Given the description of an element on the screen output the (x, y) to click on. 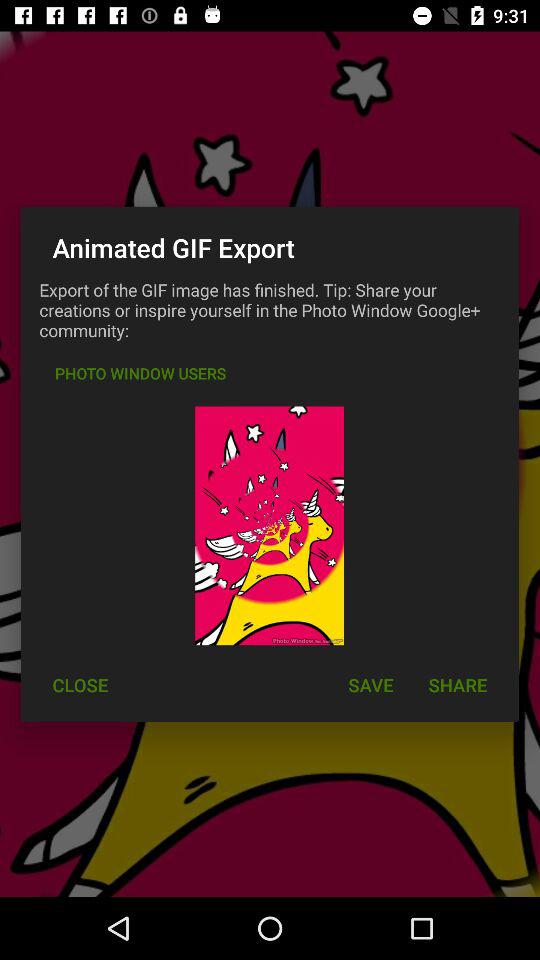
tap close at the bottom left corner (80, 684)
